Given the description of an element on the screen output the (x, y) to click on. 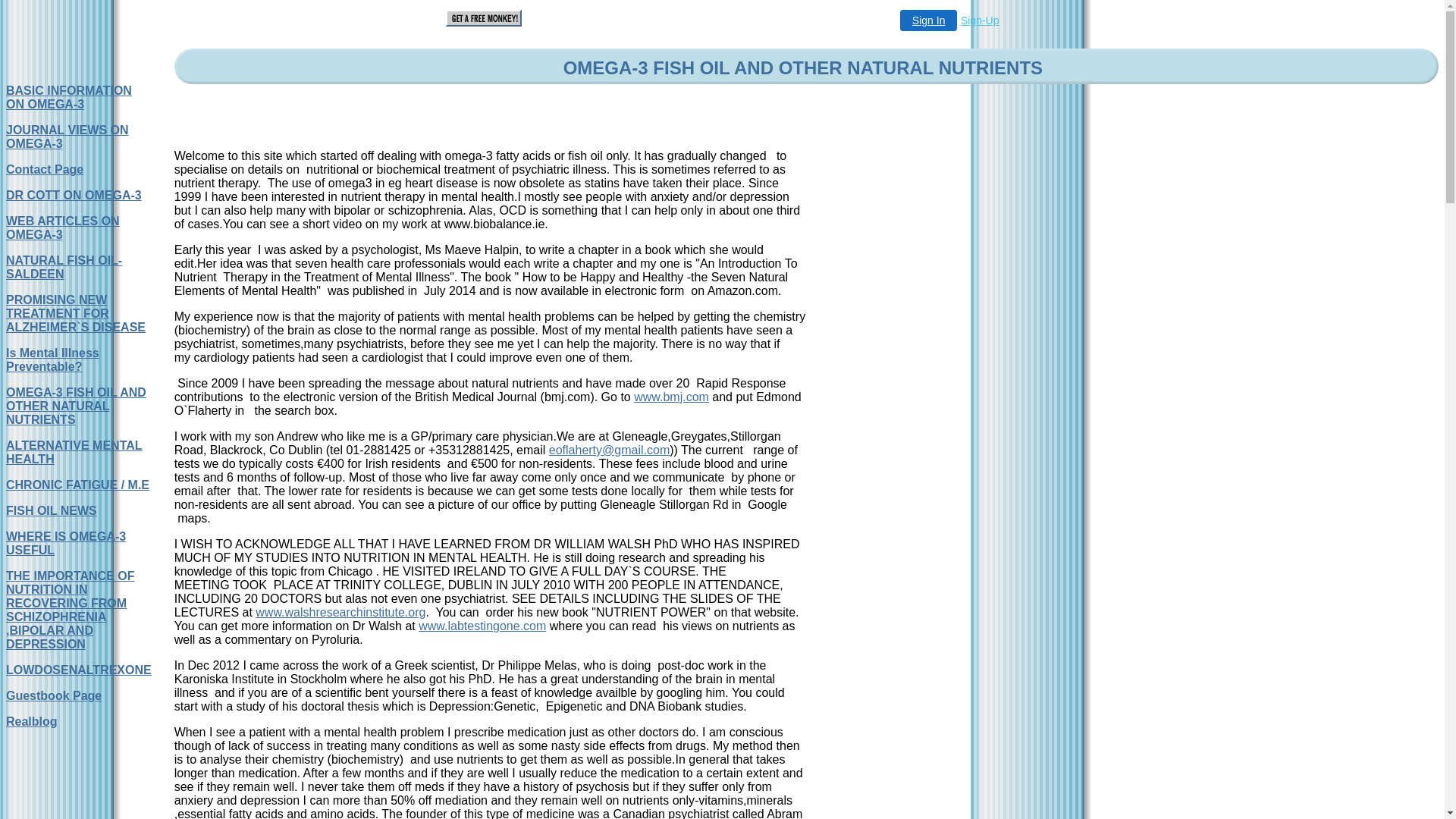
eoflaherty@gmail.com Element type: text (609, 449)
Sign-Up Element type: text (979, 20)
WEB ARTICLES ON OMEGA-3 Element type: text (62, 227)
Is Mental Illness Preventable? Element type: text (52, 359)
WHERE IS OMEGA-3 USEFUL Element type: text (65, 543)
LOWDOSENALTREXONE Element type: text (78, 669)
www.bmj.com Element type: text (671, 396)
ALTERNATIVE MENTAL HEALTH Element type: text (74, 452)
Realblog Element type: text (31, 721)
NATURAL FISH OIL-SALDEEN Element type: text (64, 267)
BASIC INFORMATION ON OMEGA-3 Element type: text (68, 97)
CHRONIC FATIGUE / M.E Element type: text (77, 484)
Guestbook Page Element type: text (53, 695)
PROMISING NEW TREATMENT FOR ALZHEIMER`S DISEASE Element type: text (75, 313)
FISH OIL NEWS Element type: text (51, 510)
www.labtestingone.com Element type: text (482, 625)
OMEGA-3 FISH OIL AND OTHER NATURAL NUTRIENTS Element type: text (76, 405)
DR COTT ON OMEGA-3 Element type: text (73, 194)
Contact Page Element type: text (44, 169)
www.walshresearchinstitute.org Element type: text (340, 611)
JOURNAL VIEWS ON OMEGA-3 Element type: text (67, 136)
Sign In Element type: text (928, 20)
